Given the description of an element on the screen output the (x, y) to click on. 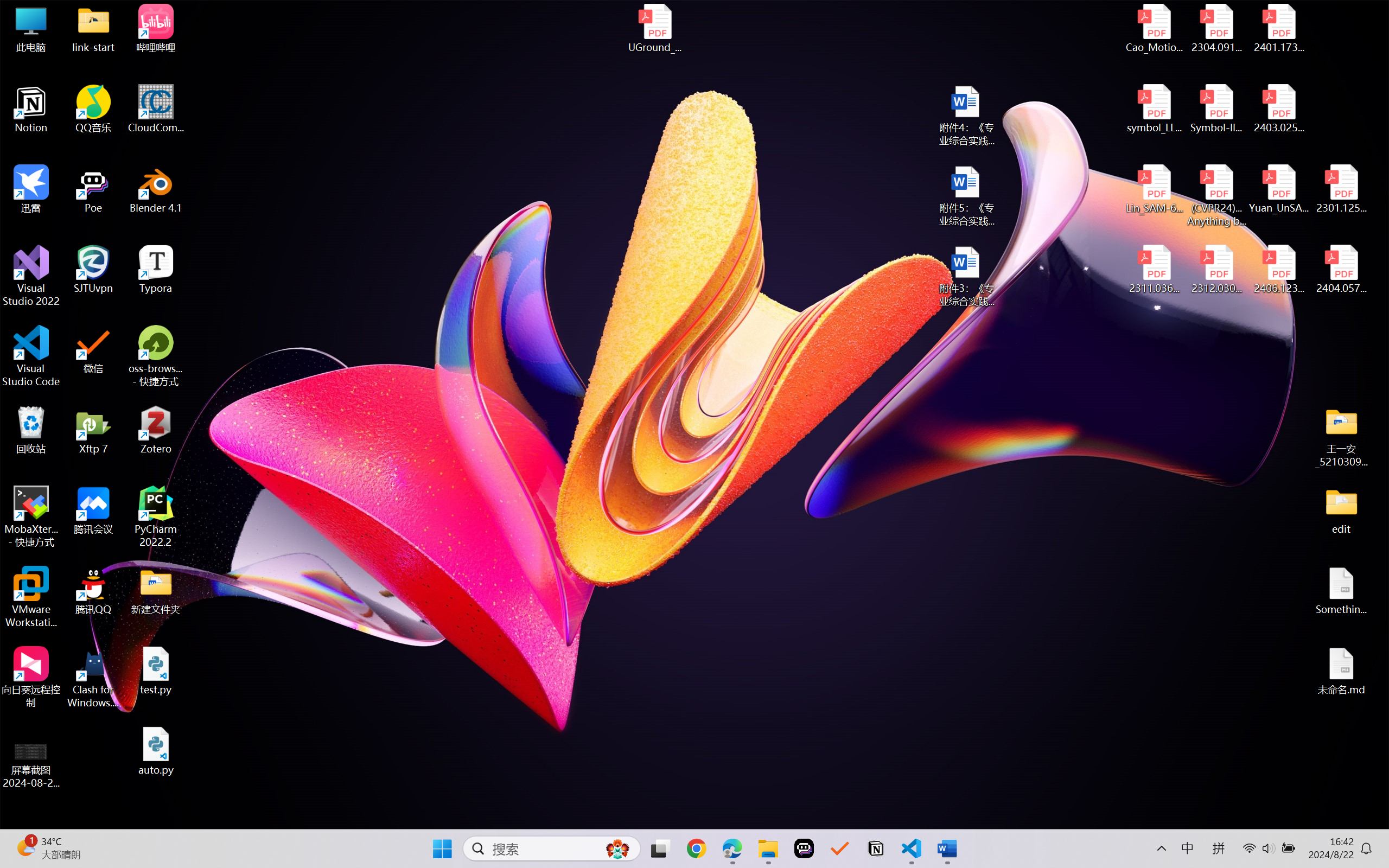
2404.05719v1.pdf (1340, 269)
Symbol-llm-v2.pdf (1216, 109)
2312.03032v2.pdf (1216, 269)
auto.py (156, 751)
(CVPR24)Matching Anything by Segmenting Anything.pdf (1216, 195)
